Given the description of an element on the screen output the (x, y) to click on. 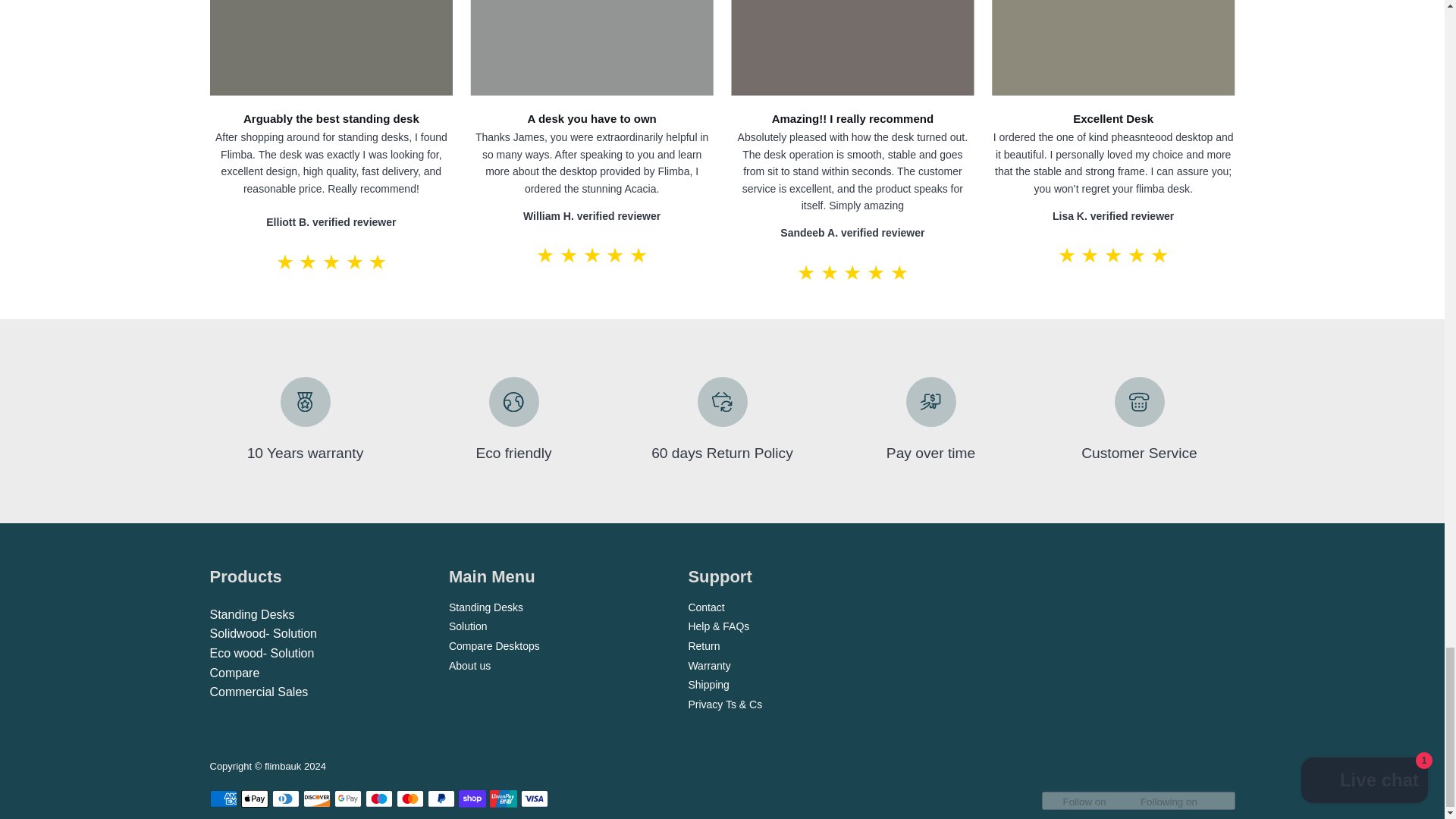
Solidwood- Solution (262, 633)
Eco-wood- Solution (261, 653)
Standing Desk (251, 614)
